Given the description of an element on the screen output the (x, y) to click on. 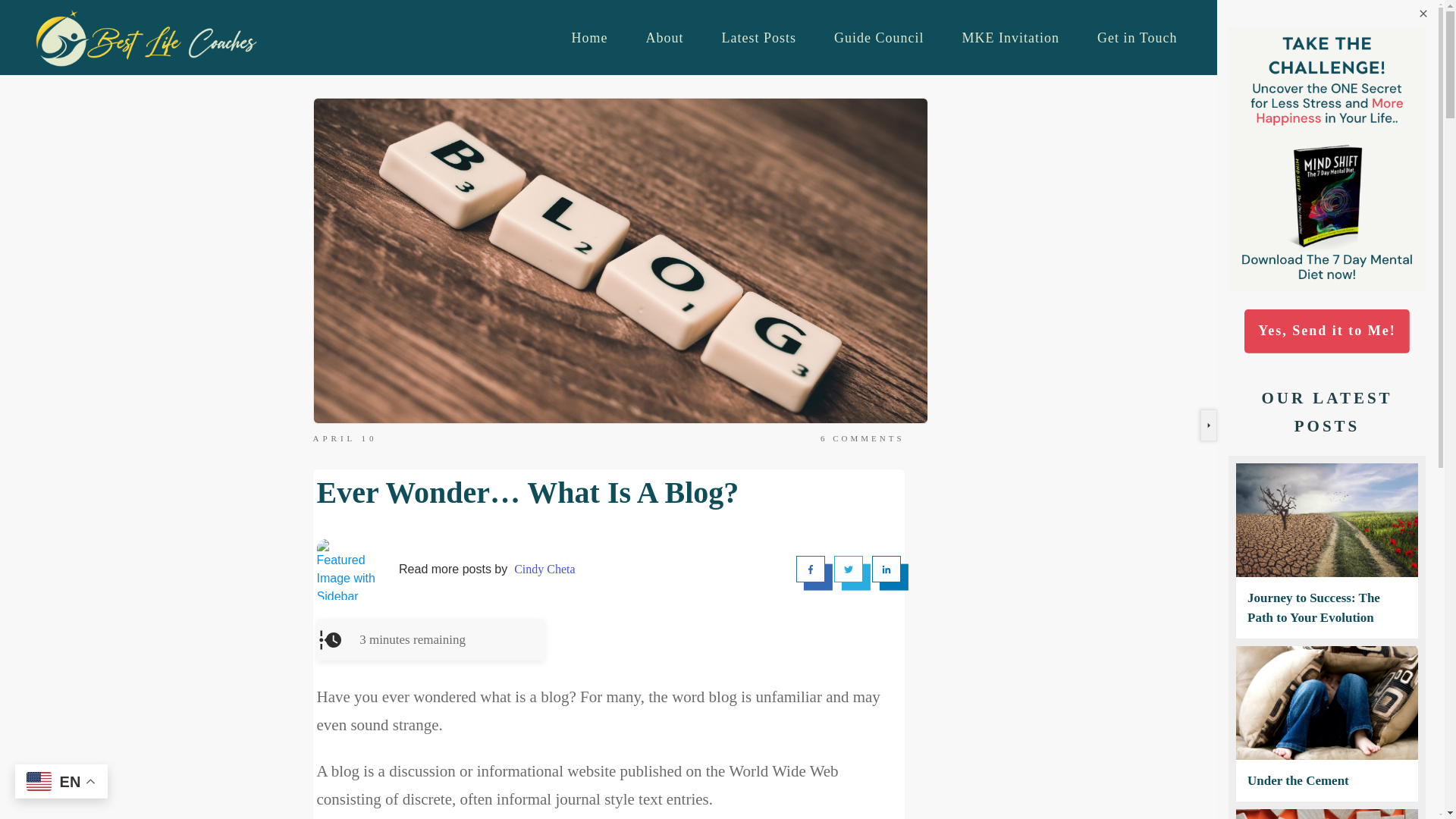
Cindy Cheta (544, 568)
Latest Posts (759, 37)
MKE Invitation (1010, 37)
Get in Touch (1136, 37)
About (665, 37)
Cindy Cheta (544, 568)
Featured Image with Sidebar (347, 568)
Home (590, 37)
Guide Council (879, 37)
